Given the description of an element on the screen output the (x, y) to click on. 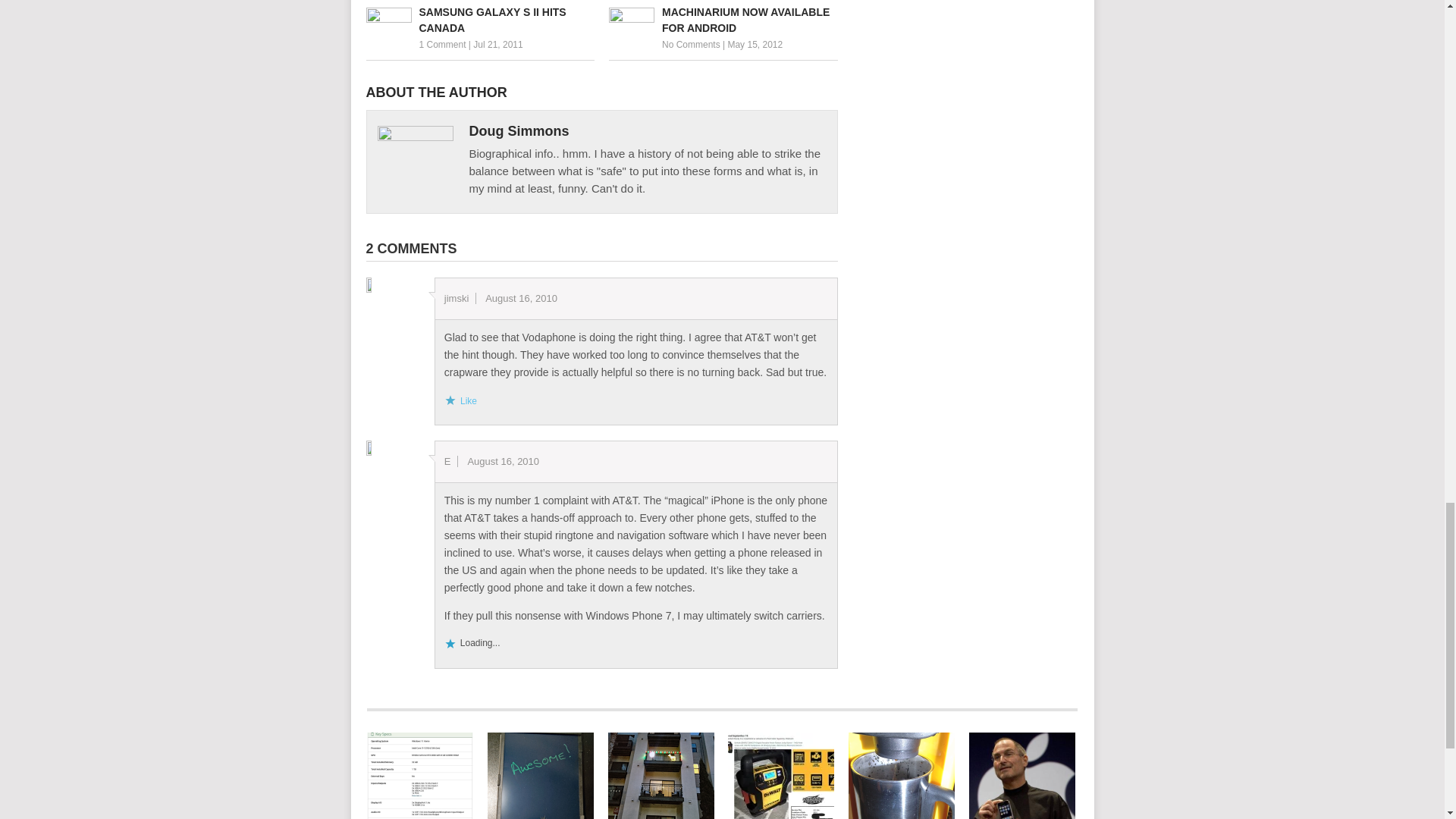
1 Comment (442, 44)
SAMSUNG GALAXY S II HITS CANADA (479, 20)
No Comments (691, 44)
MACHINARIUM NOW AVAILABLE FOR ANDROID (723, 20)
